Given the description of an element on the screen output the (x, y) to click on. 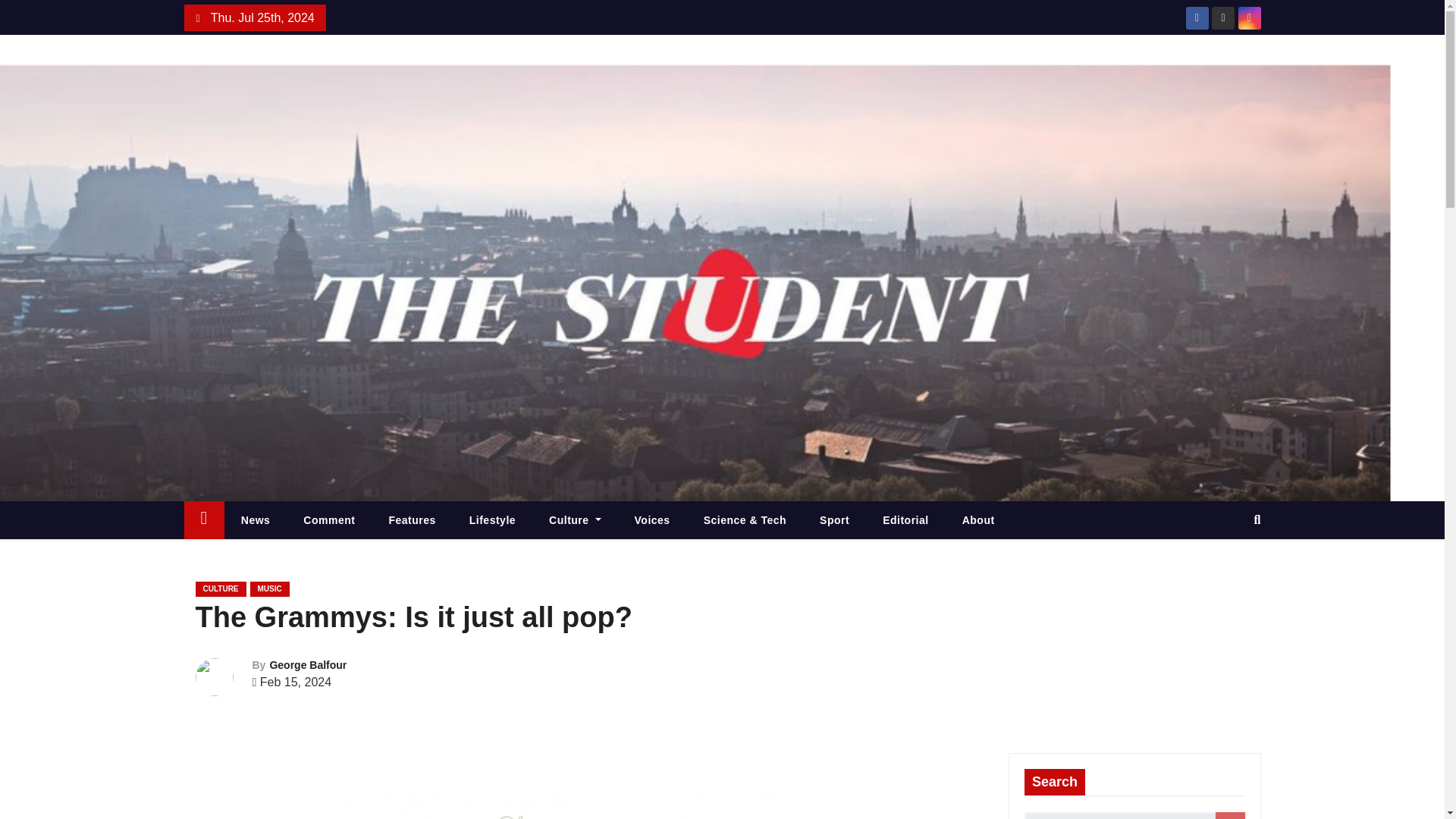
Culture (574, 519)
Editorial (905, 519)
Voices (652, 519)
Comment (328, 519)
George Balfour (307, 664)
Comment (328, 519)
Lifestyle (492, 519)
Voices (652, 519)
CULTURE (220, 589)
Culture (574, 519)
News (255, 519)
About (977, 519)
News (255, 519)
Home (203, 519)
Sport (834, 519)
